Given the description of an element on the screen output the (x, y) to click on. 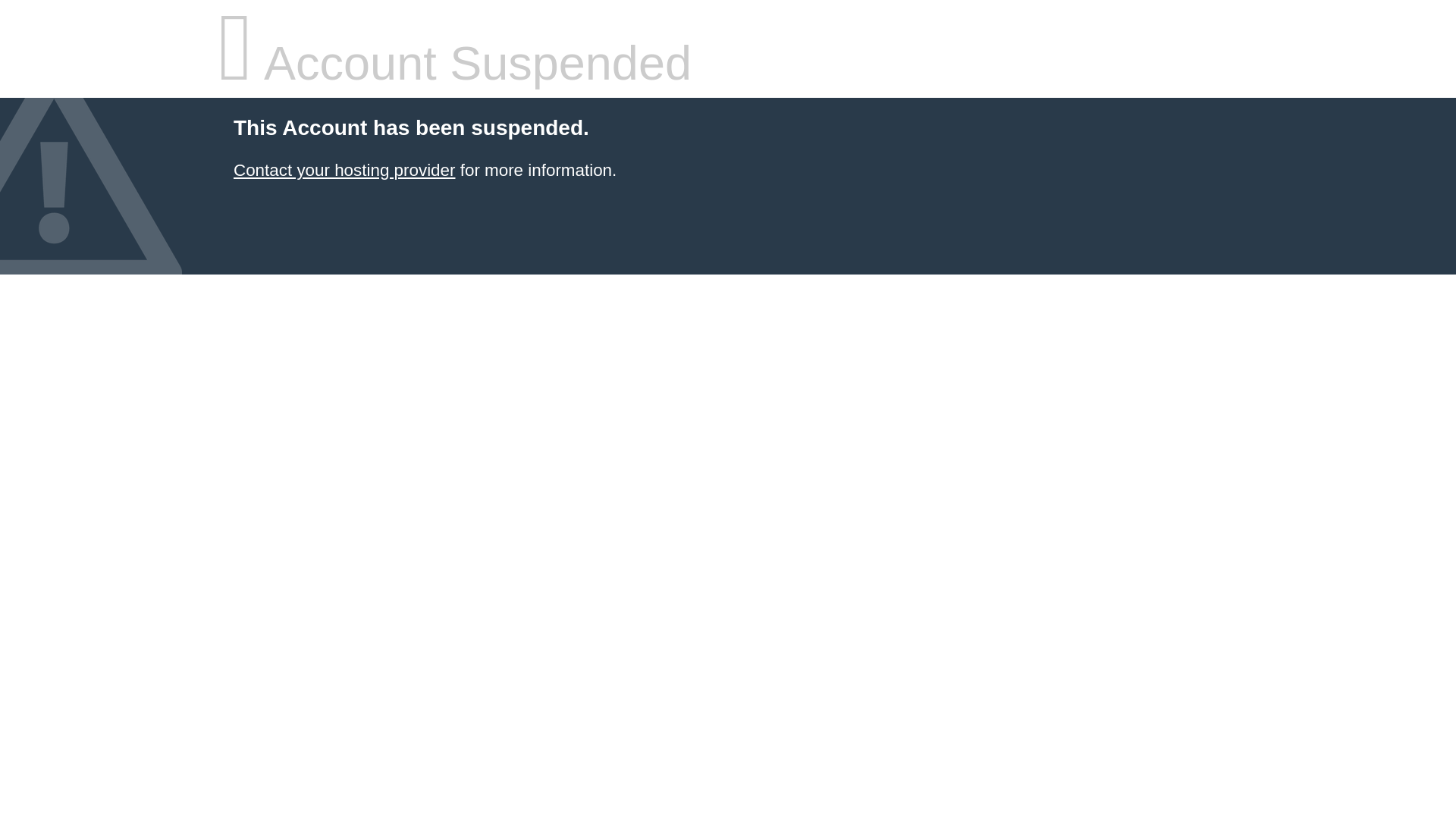
Contact your hosting provider (343, 169)
